Given the description of an element on the screen output the (x, y) to click on. 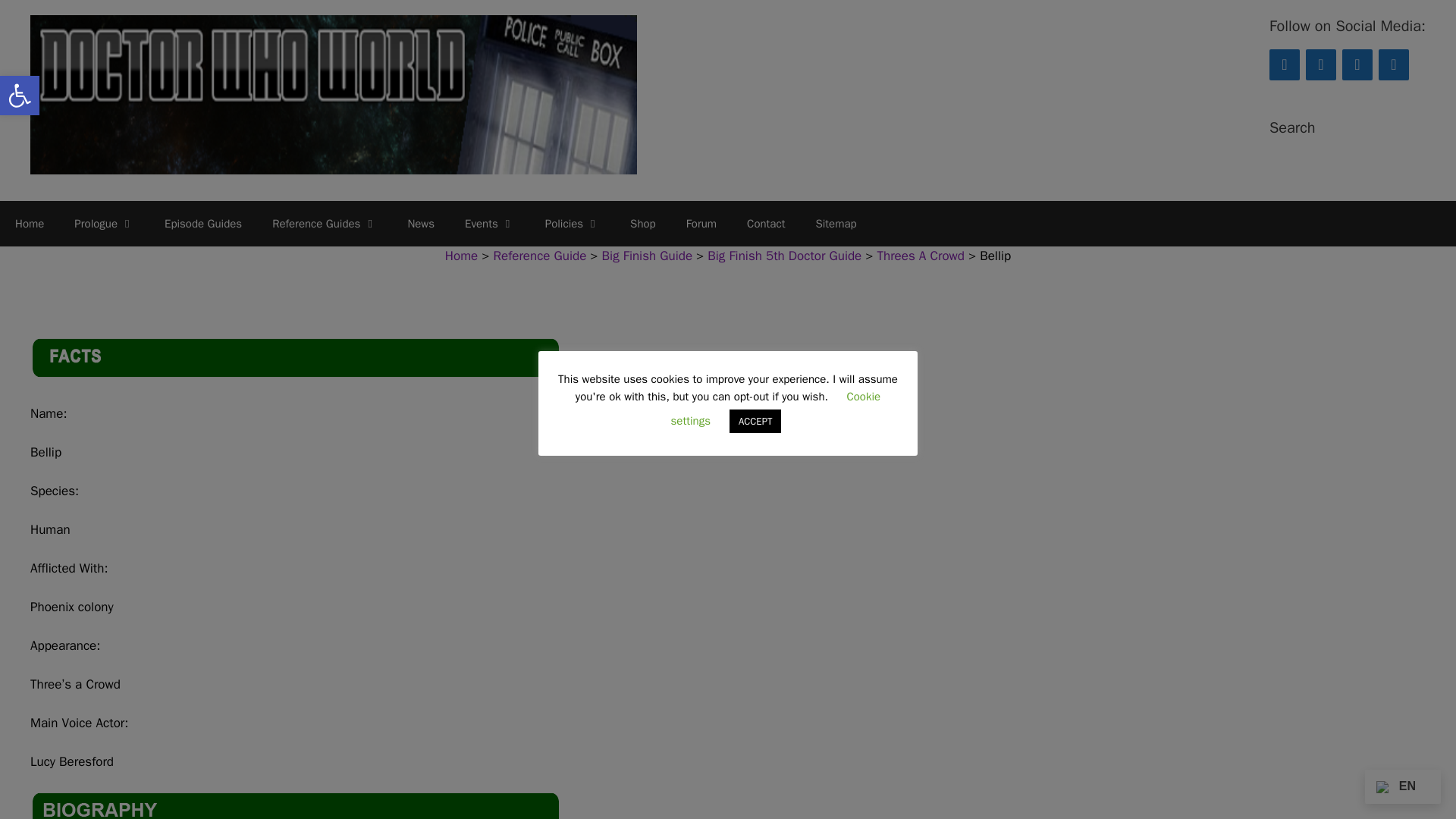
Twitter (1321, 64)
Policies (571, 222)
Home (461, 254)
Prologue (104, 222)
Big Finish Guide (647, 254)
Events (489, 222)
Accessibility Tools (19, 95)
News (420, 222)
Sitemap (834, 222)
Episode Guides (203, 222)
